Given the description of an element on the screen output the (x, y) to click on. 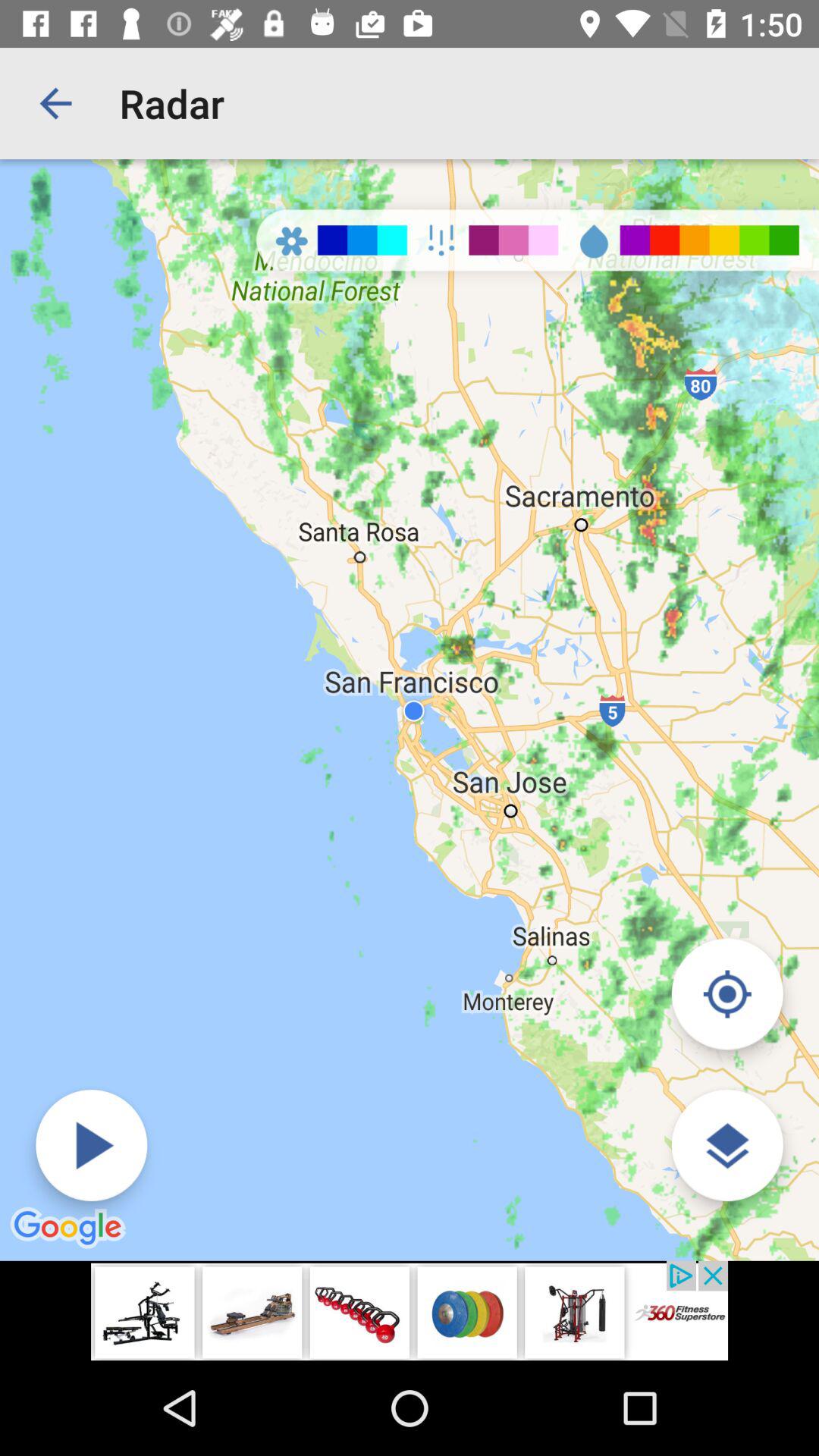
locate with gps (727, 993)
